Given the description of an element on the screen output the (x, y) to click on. 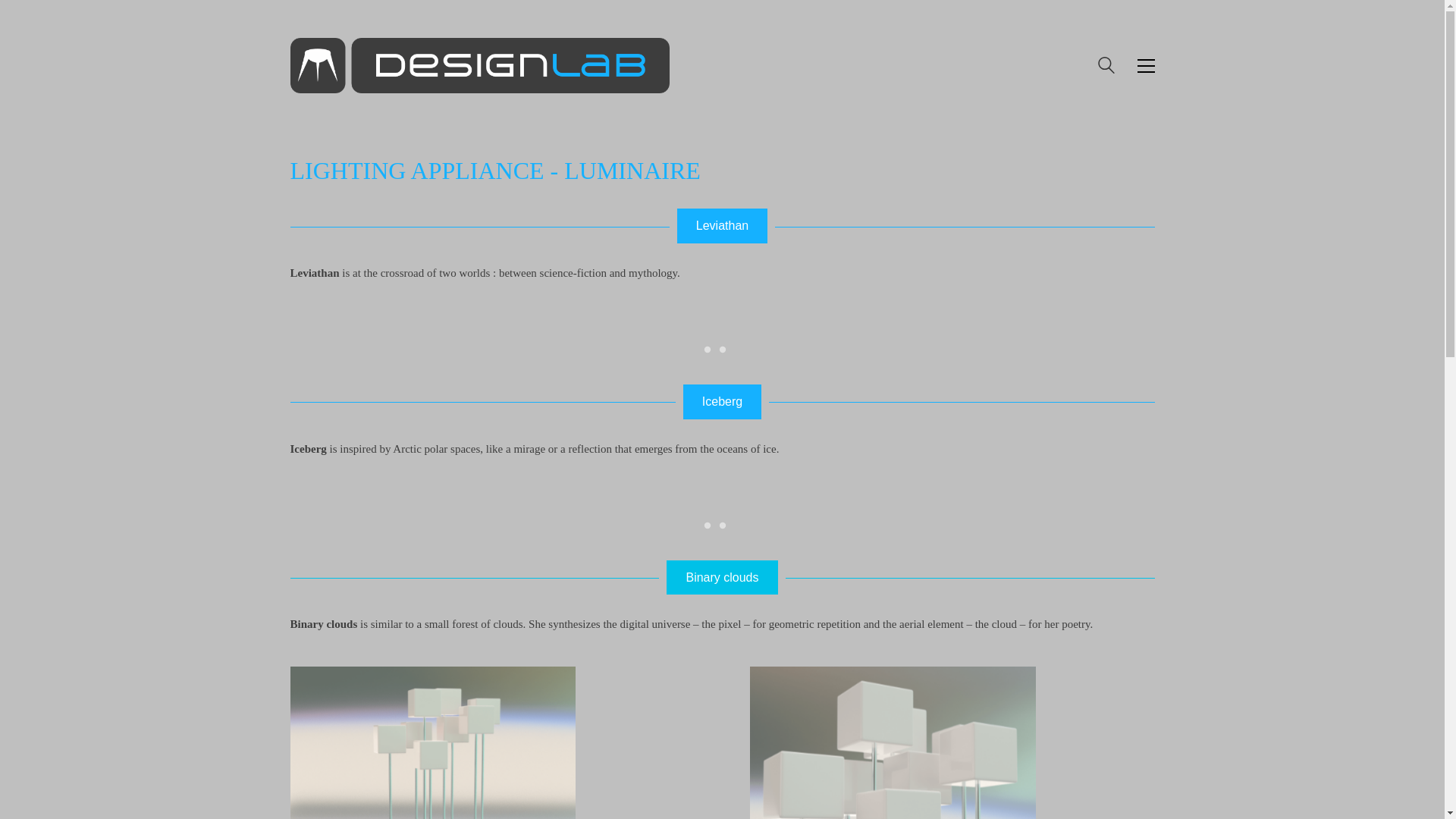
LIGHTING APPLIANCE - LUMINAIRE (494, 171)
Floor Lamp (419, 735)
Floor Lamp (878, 735)
